Given the description of an element on the screen output the (x, y) to click on. 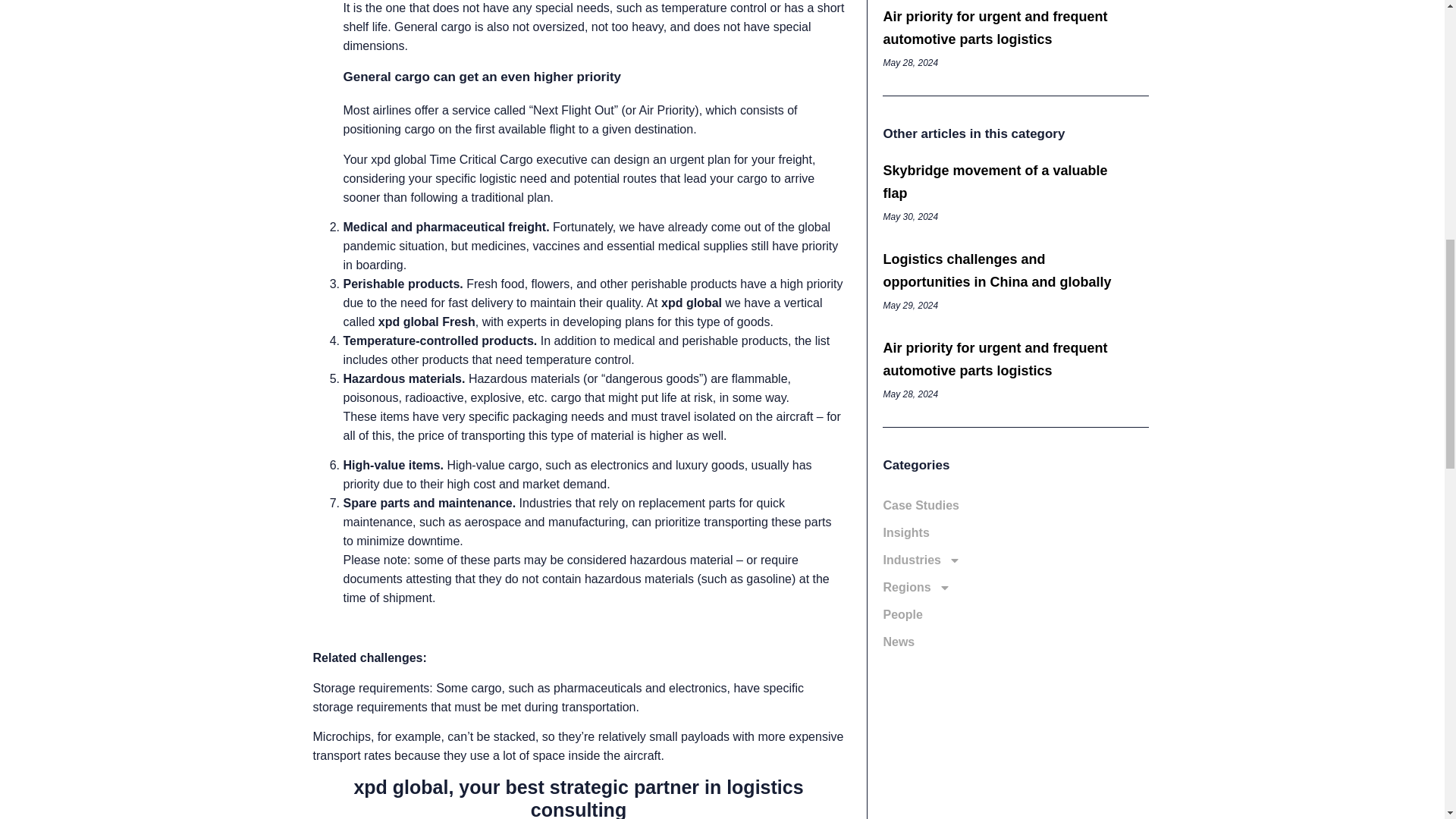
Logistics challenges and opportunities in China and globally (996, 270)
Skybridge movement of a valuable flap (994, 181)
